Given the description of an element on the screen output the (x, y) to click on. 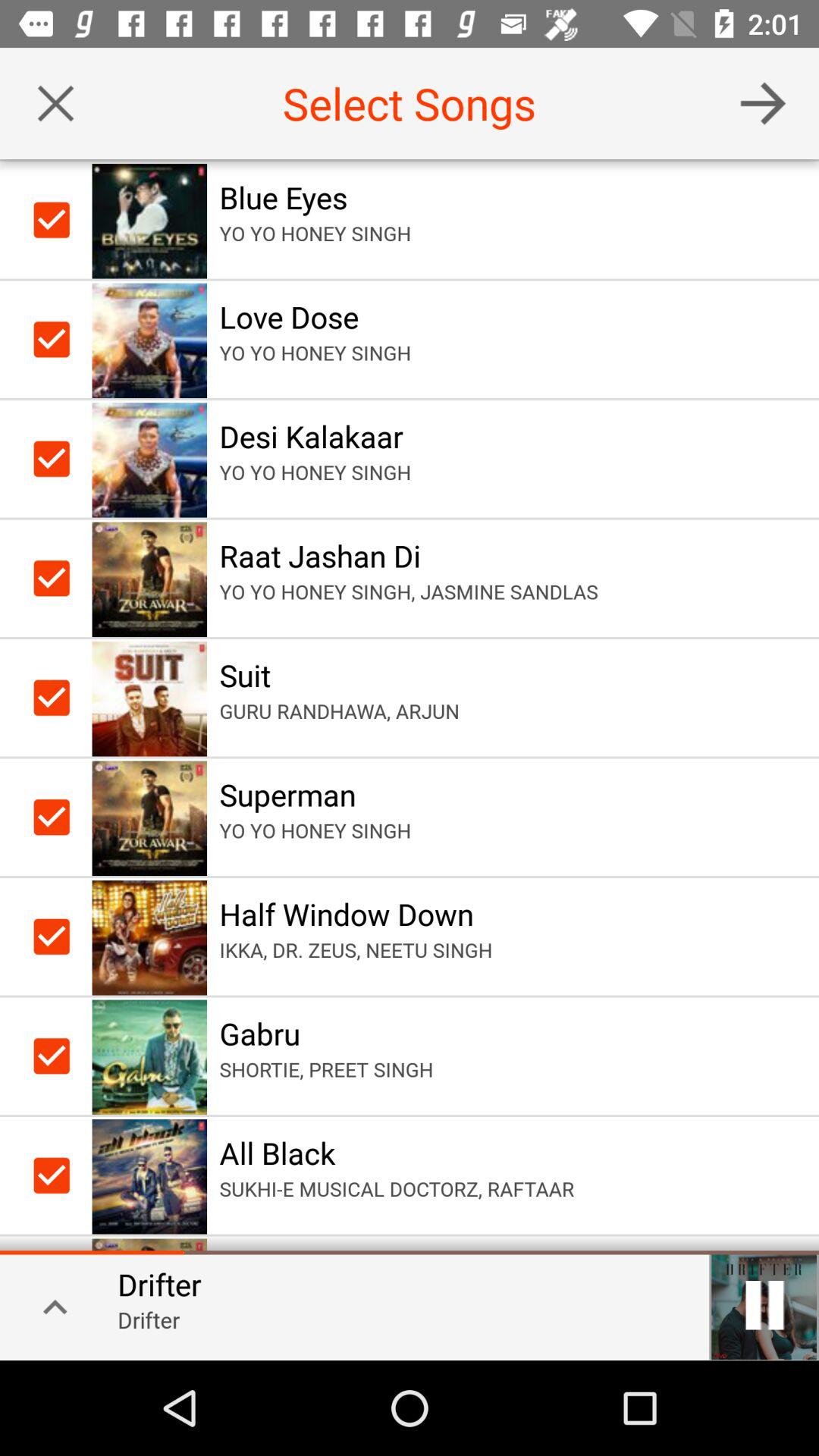
go to next page (763, 103)
